Given the description of an element on the screen output the (x, y) to click on. 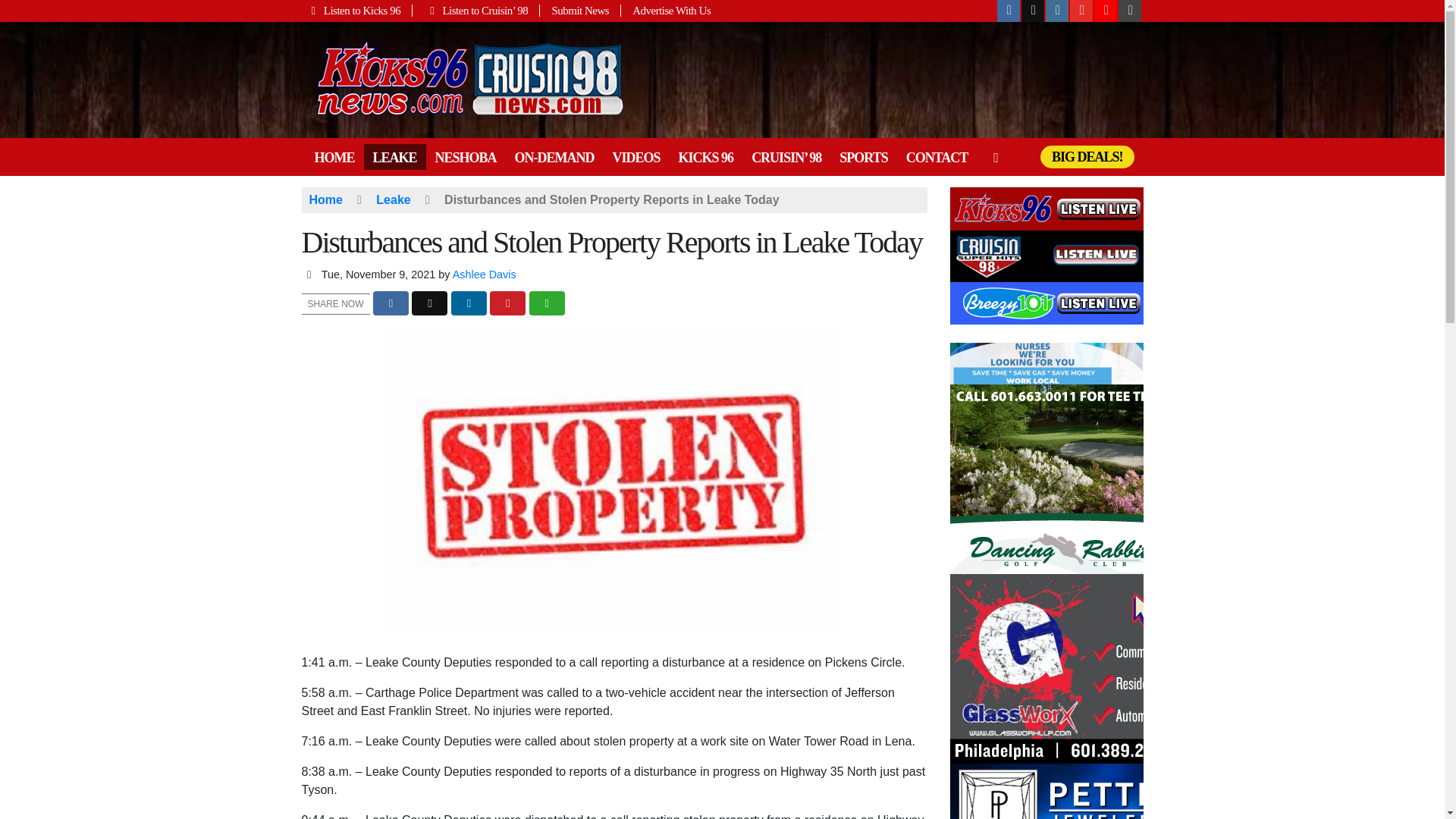
Follow us on Facebook (1008, 11)
Follow us on Instagram (1056, 11)
Advertise With Us (665, 10)
Get our iOS App (1129, 11)
Follow us on Youtube (1081, 11)
Follow us on Soundcloud (1105, 11)
Listen to Kicks 96 (357, 10)
Submit News (580, 10)
Follow us on X (1032, 11)
